Given the description of an element on the screen output the (x, y) to click on. 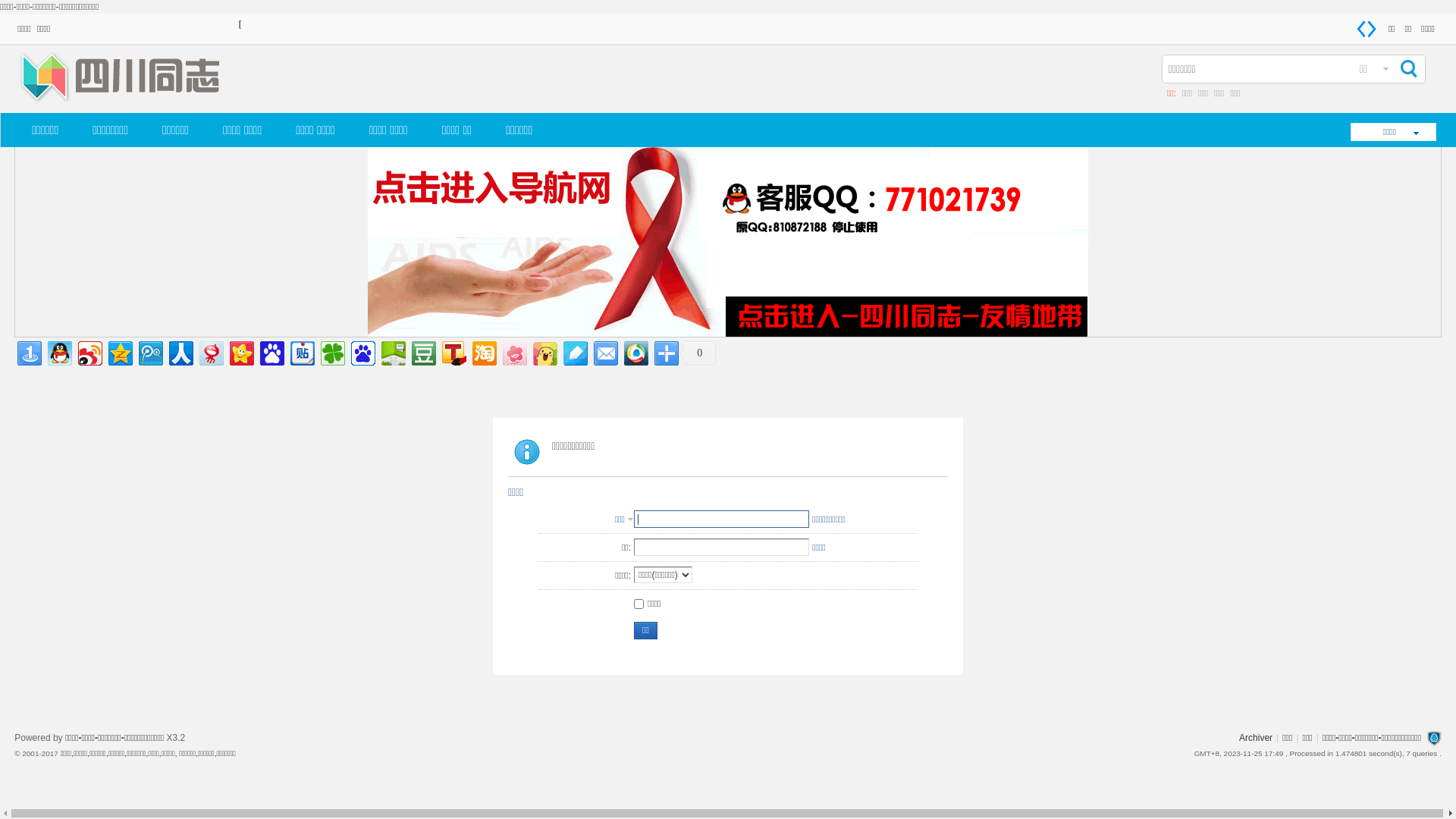
0 Element type: text (697, 353)
Archiver Element type: text (1255, 737)
true Element type: text (1407, 68)
